Given the description of an element on the screen output the (x, y) to click on. 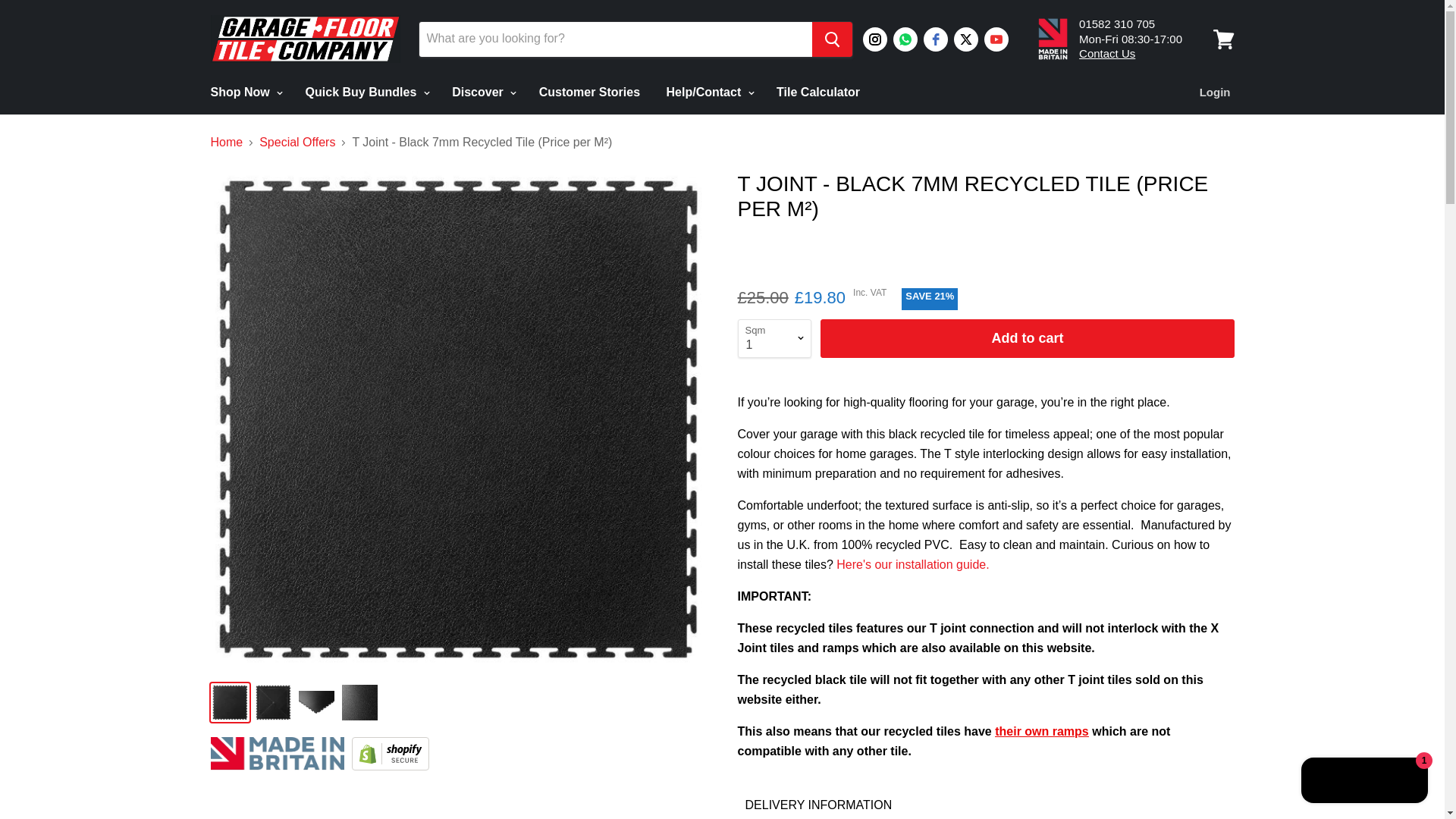
Shop Now (243, 92)
Quick Buy Bundles (366, 92)
Twitter (965, 39)
Discover (482, 92)
Shopify online store chat (1364, 781)
We're proud to be a British Manufacturer (279, 766)
Instagram (874, 39)
This online store is secured by Shopify (392, 766)
View cart (1223, 39)
Facebook (935, 39)
Contact Us (1107, 52)
WhatsApp (905, 39)
Contact Us (1107, 52)
YouTube (996, 39)
